Given the description of an element on the screen output the (x, y) to click on. 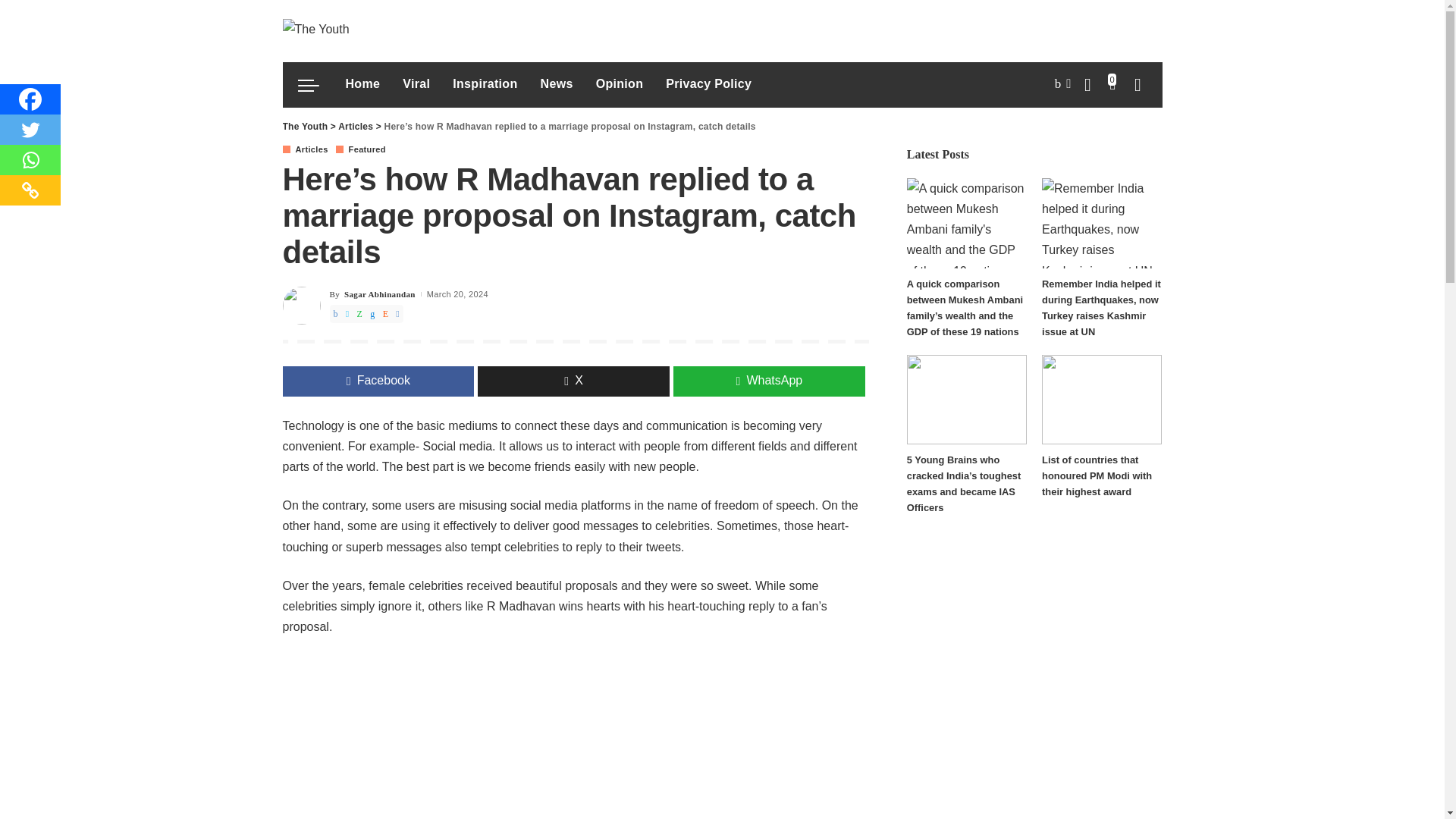
Twitter (30, 129)
Go to the Articles Category archives. (354, 126)
The Youth (315, 30)
Go to The Youth. (304, 126)
Facebook (30, 99)
